Given the description of an element on the screen output the (x, y) to click on. 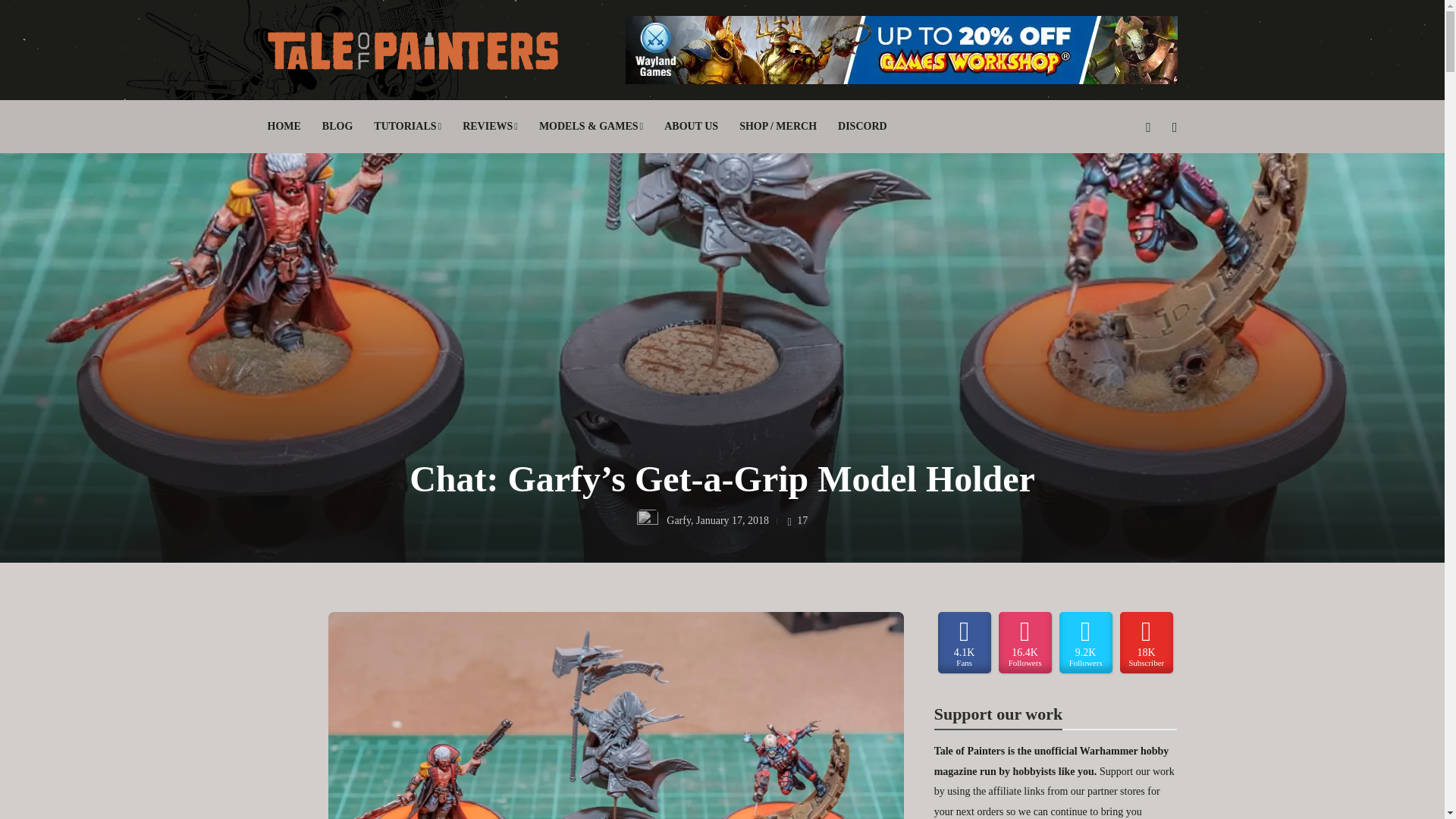
TUTORIALS (407, 126)
REVIEWS (490, 126)
